Given the description of an element on the screen output the (x, y) to click on. 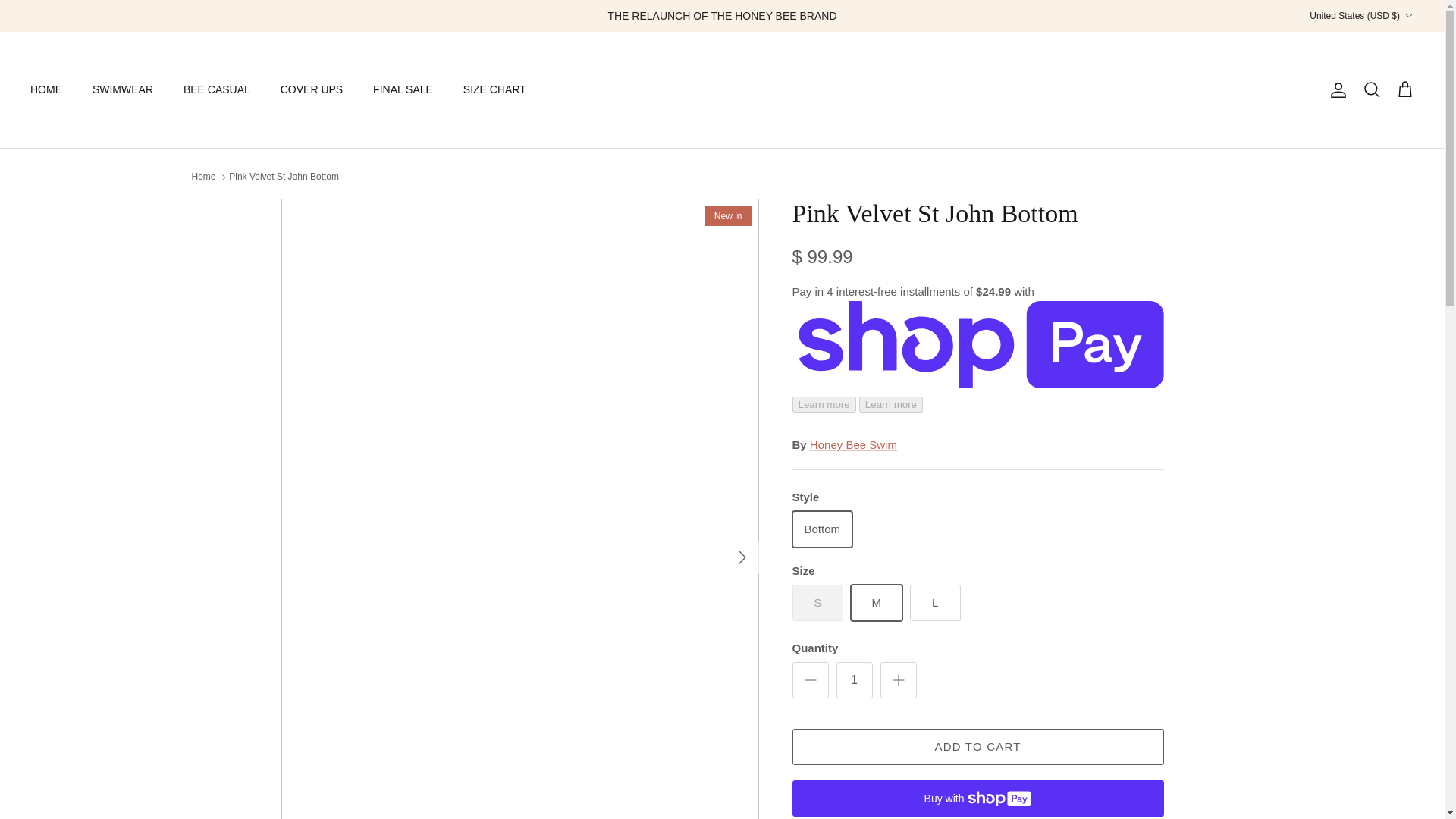
1 (853, 679)
Minus (809, 679)
Plus (897, 679)
HONEY BEE SWIM (722, 89)
Down (1408, 15)
RIGHT (741, 557)
